Given the description of an element on the screen output the (x, y) to click on. 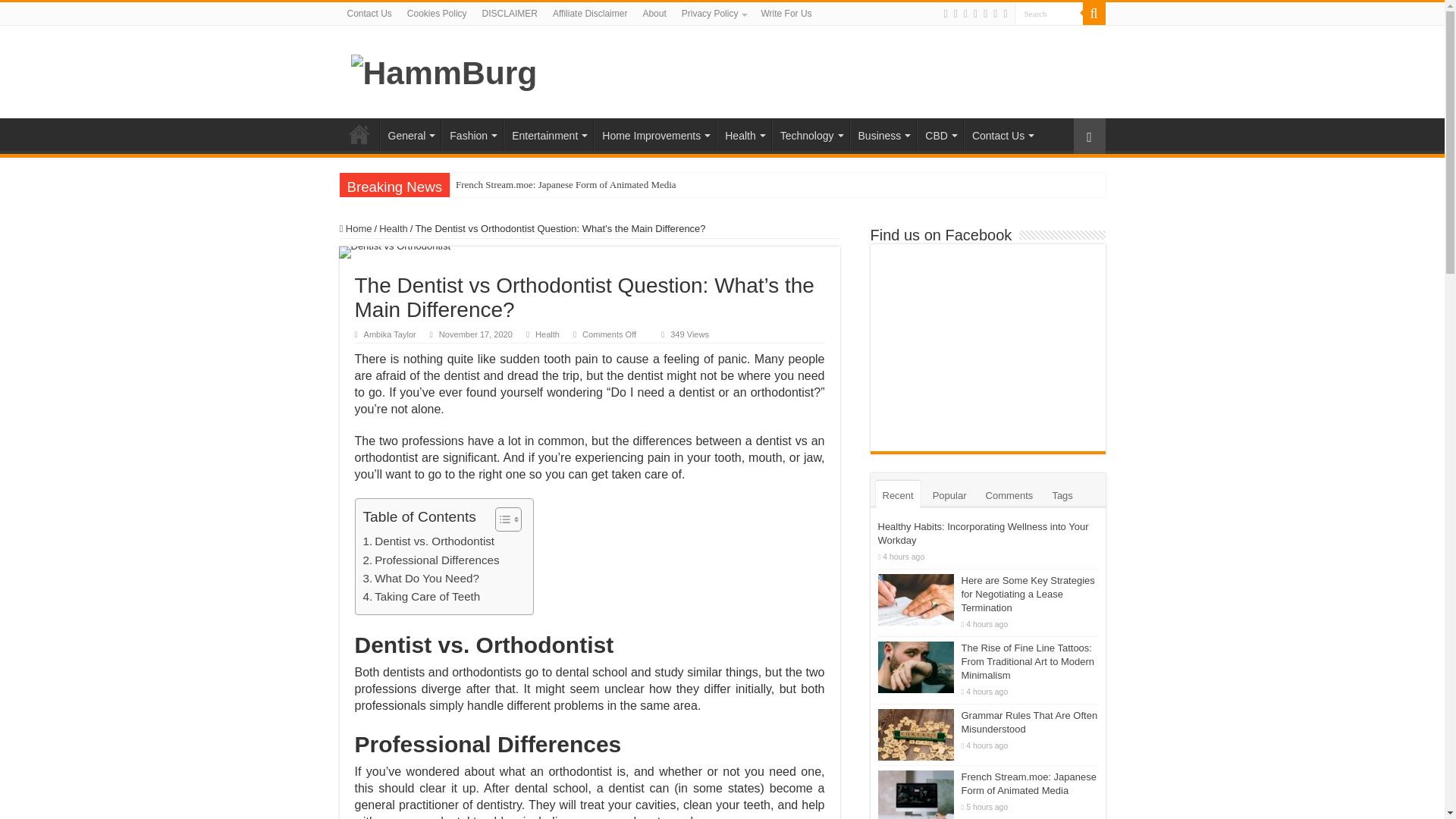
Search (1048, 13)
Search (1048, 13)
Search (1048, 13)
